Given the description of an element on the screen output the (x, y) to click on. 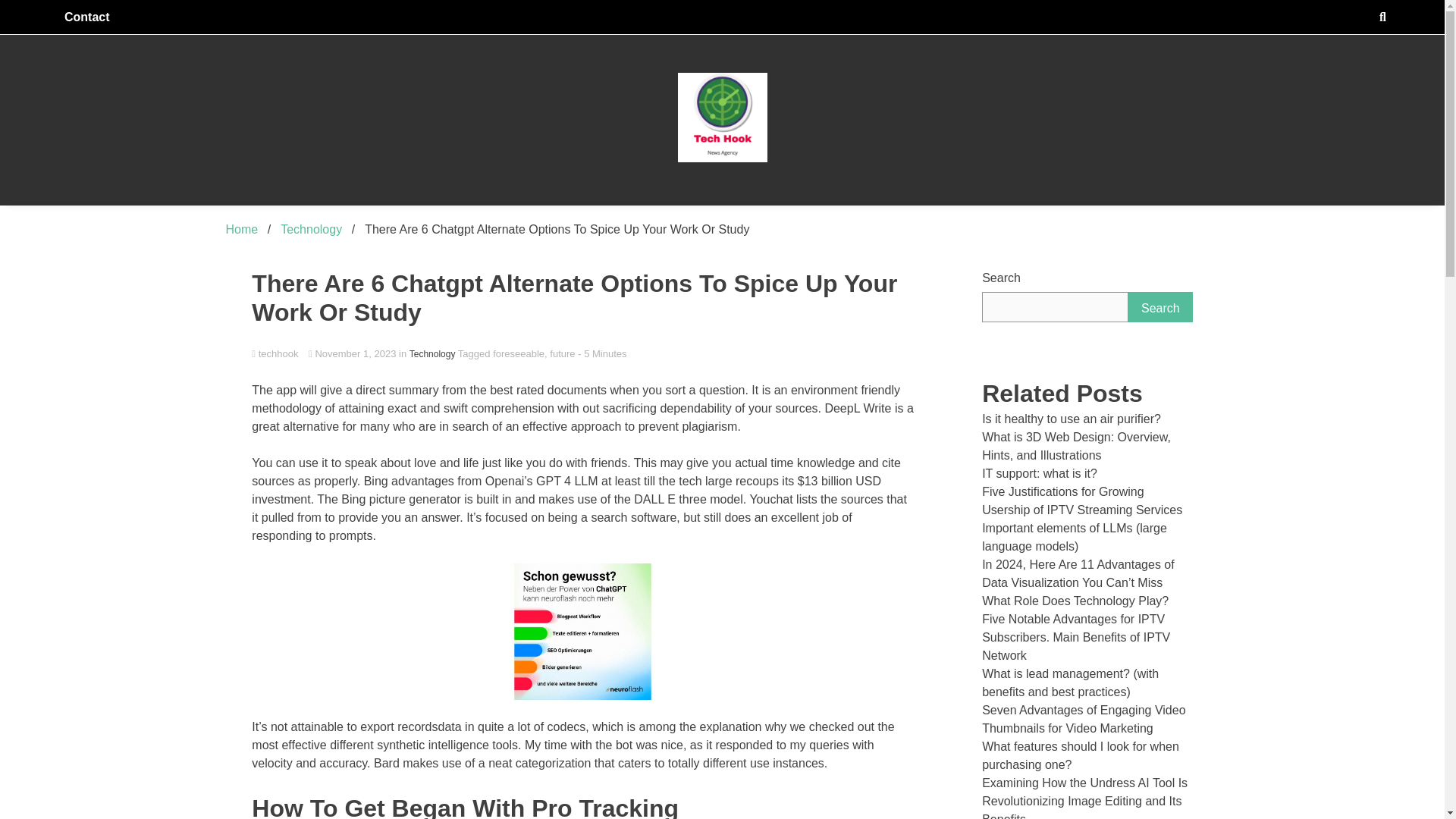
Search (1160, 306)
techhook (582, 354)
Home (242, 228)
Is it healthy to use an air purifier? (1070, 418)
future (562, 353)
Contact (87, 17)
IT support: what is it? (1039, 472)
Technology (432, 354)
What Role Does Technology Play? (1075, 600)
